Given the description of an element on the screen output the (x, y) to click on. 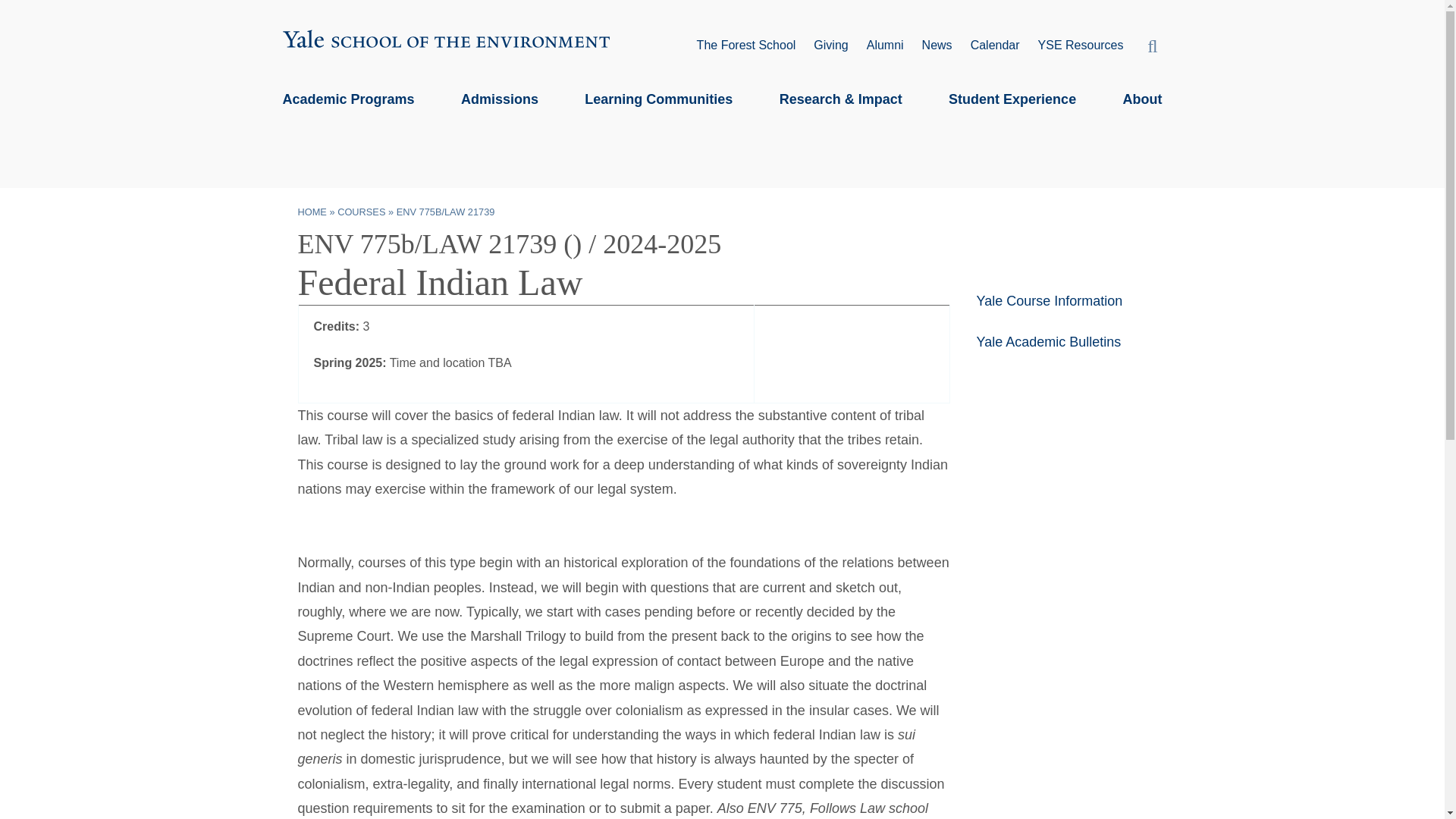
Giving (830, 45)
home (311, 211)
The Forest School (746, 45)
Alumni (885, 45)
Calendar (995, 45)
OPEN THE SEARCH PANEL (1153, 44)
YSE Resources (1081, 45)
Visit the Yale School of the Environment homepage (721, 43)
Admissions (499, 98)
